Given the description of an element on the screen output the (x, y) to click on. 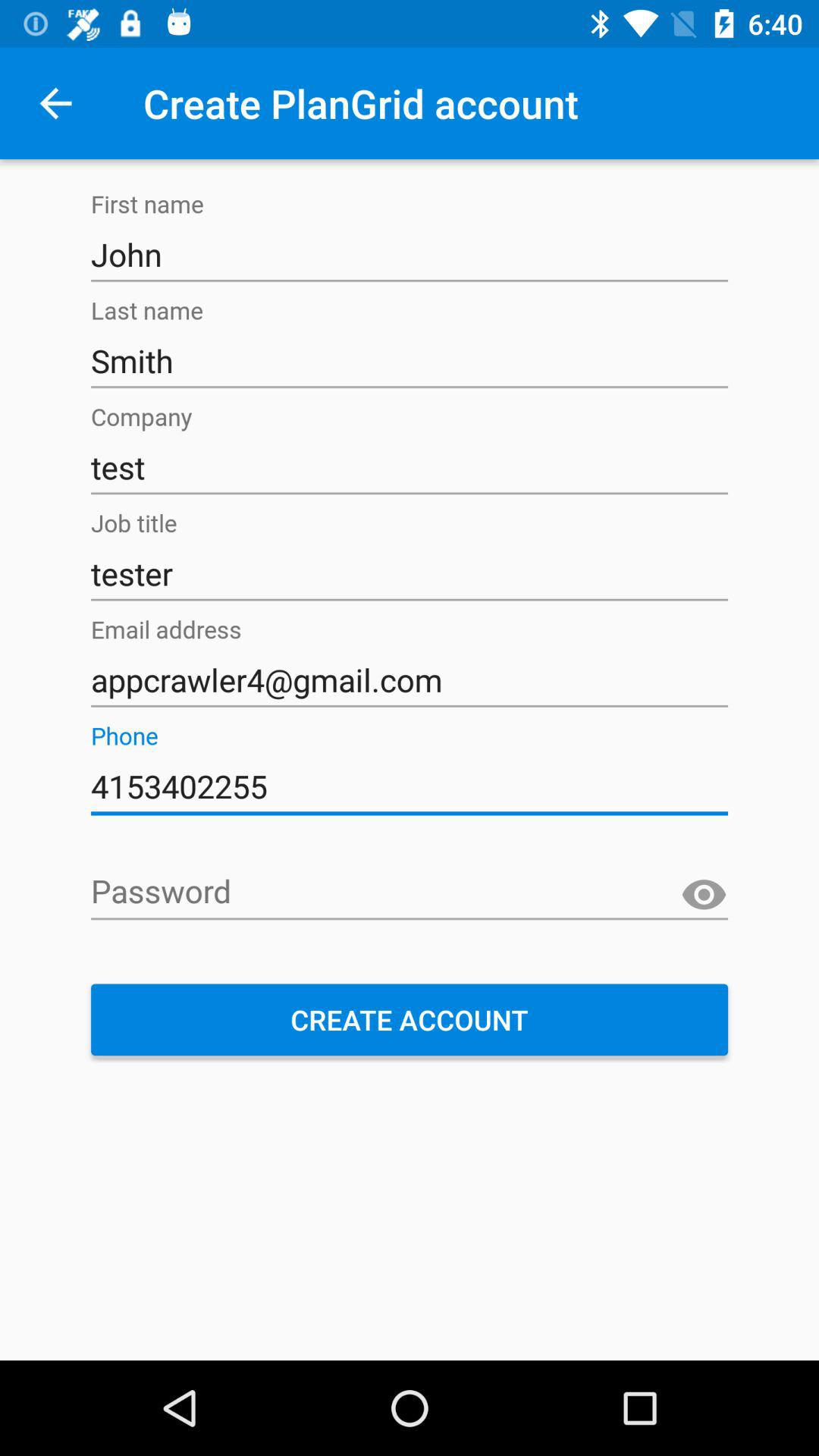
flip to test (409, 467)
